Given the description of an element on the screen output the (x, y) to click on. 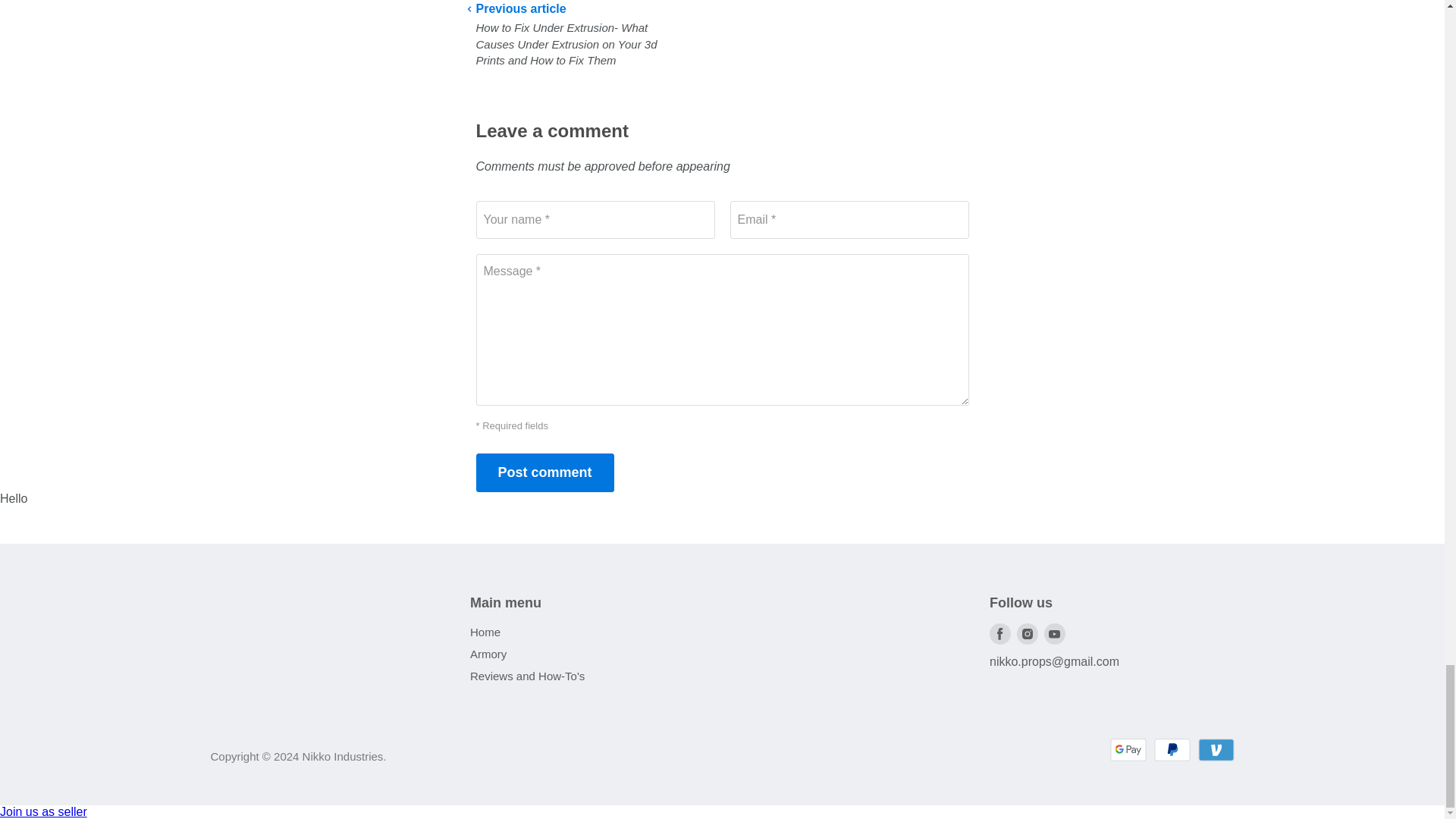
Armory (488, 653)
Instagram (1027, 633)
Facebook (1000, 633)
Find us on Facebook (1000, 633)
Youtube (1054, 633)
Venmo (1216, 749)
Google Pay (1128, 749)
Reviews and How-To's (527, 675)
Home (485, 631)
PayPal (1172, 749)
Post comment (545, 472)
